Given the description of an element on the screen output the (x, y) to click on. 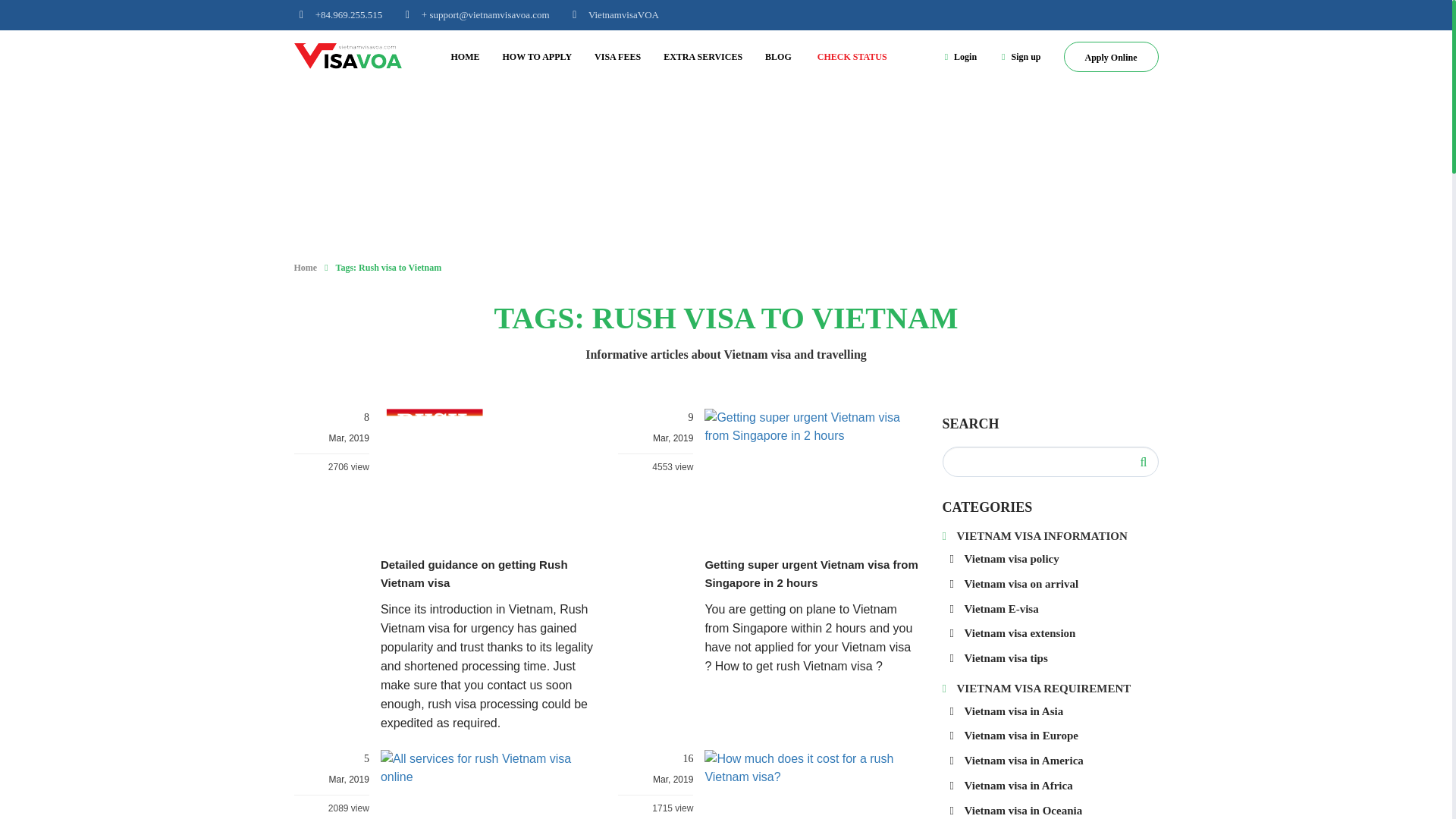
Vietnam visa policy (1003, 558)
Apply Online (1109, 56)
Detailed guidance on getting Rush Vietnam visa (473, 572)
Home (305, 267)
HOW TO APPLY (537, 56)
VietnamvisaVOA (613, 14)
VISA FEES (617, 56)
How to apply  (537, 56)
BLOG (778, 56)
CHECK STATUS (852, 56)
Tags: Rush visa to Vietnam (389, 267)
HOME (465, 56)
Blog (778, 56)
EXTRA SERVICES (703, 56)
Home (465, 56)
